Given the description of an element on the screen output the (x, y) to click on. 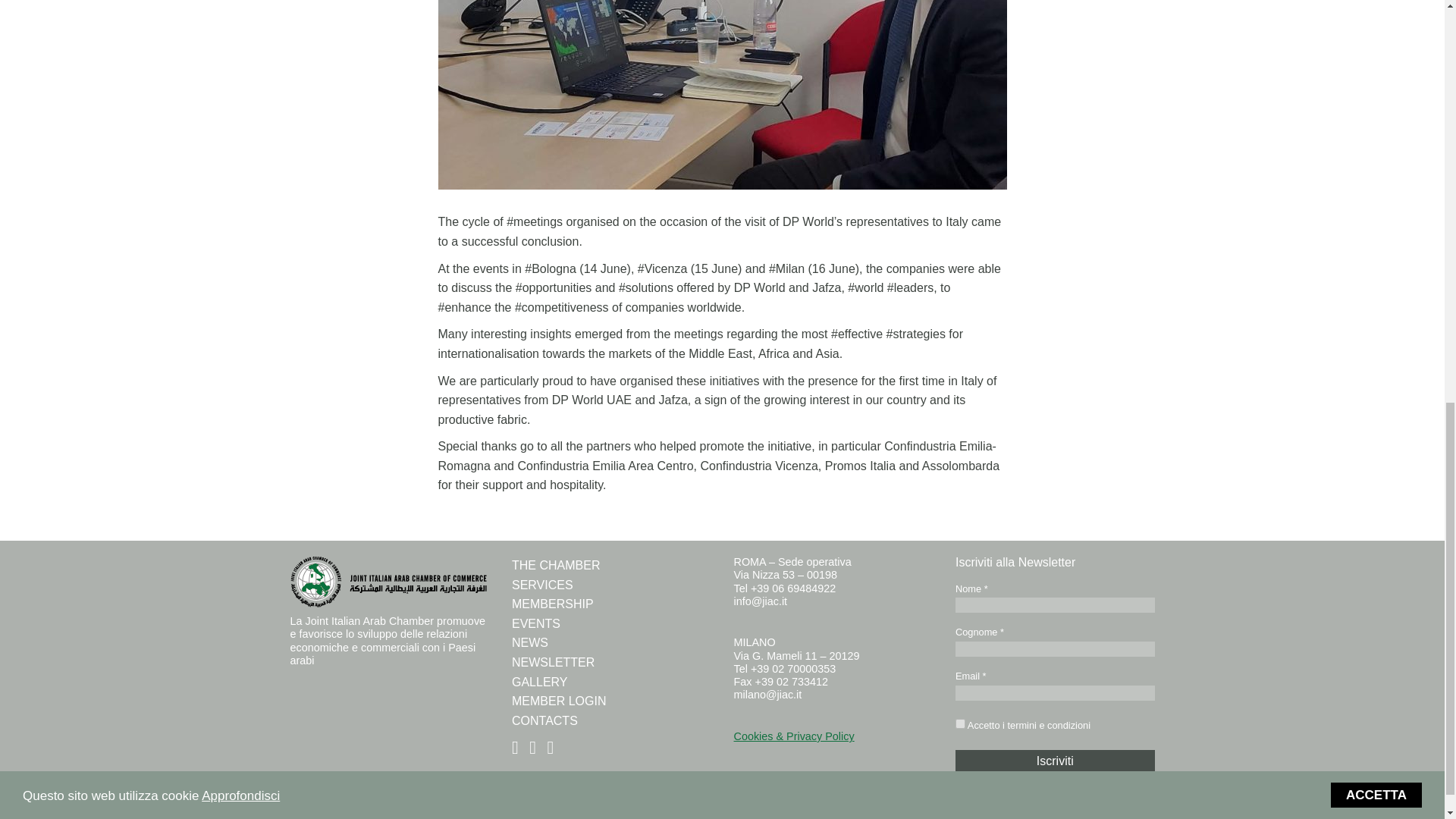
Nome (1054, 604)
Email (1054, 693)
on (960, 723)
Iscriviti (1054, 761)
Cognome (1054, 648)
